Given the description of an element on the screen output the (x, y) to click on. 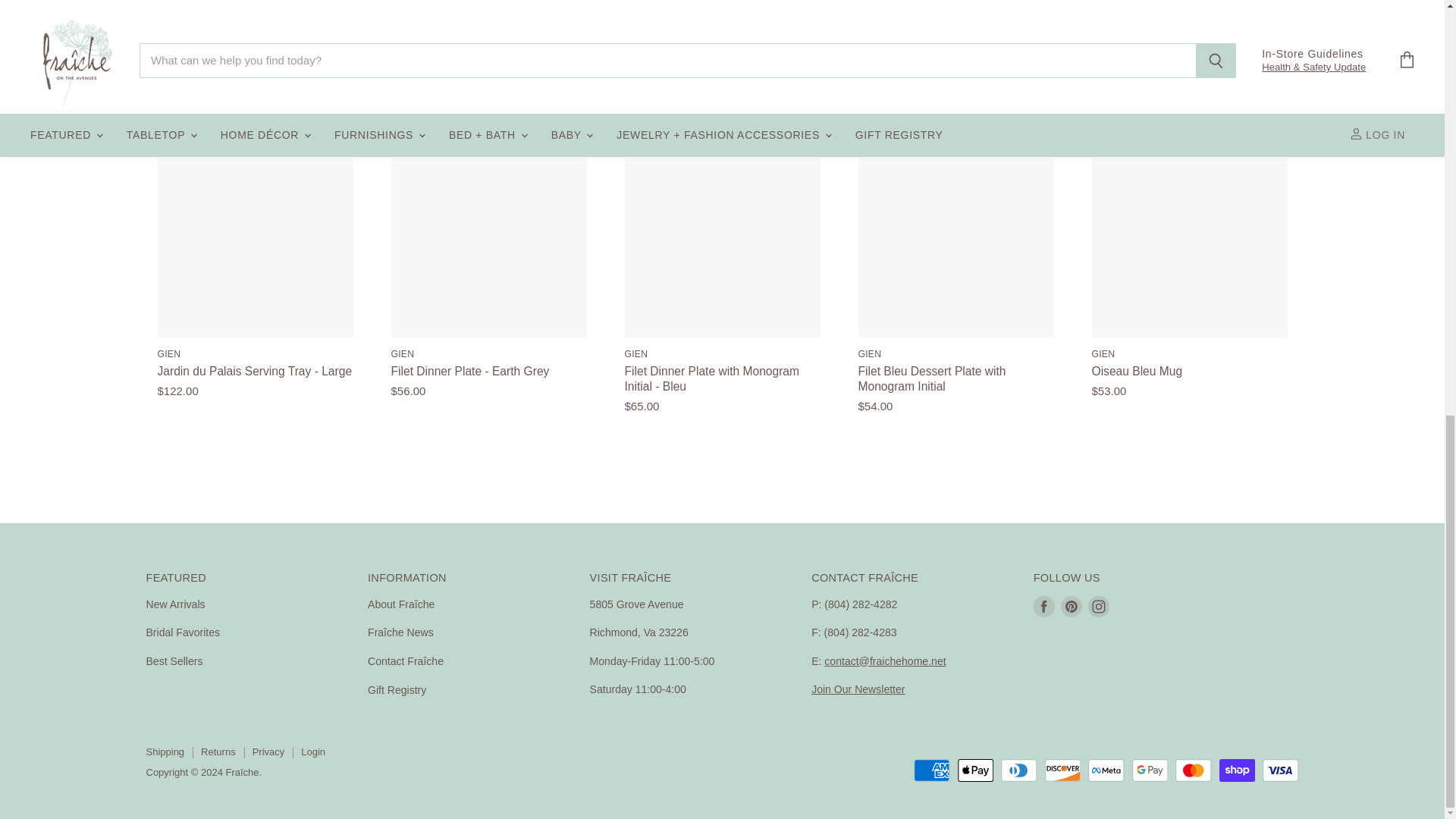
Facebook (1044, 605)
Instagram (1098, 605)
Pinterest (1071, 605)
